Given the description of an element on the screen output the (x, y) to click on. 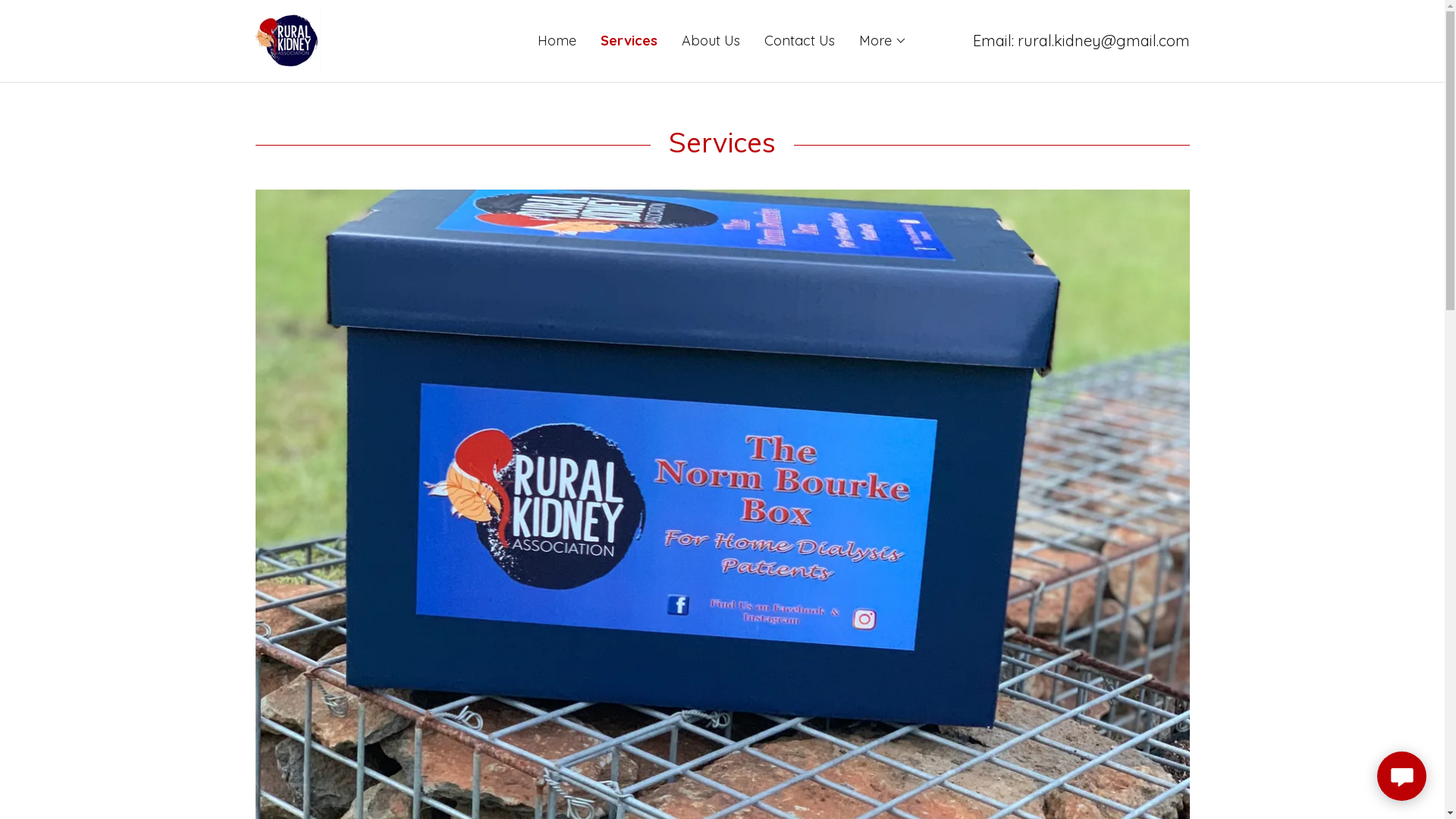
Rural Kidney Association Element type: hover (287, 39)
Home Element type: text (556, 40)
Contact Us Element type: text (799, 40)
rural.kidney@gmail.com Element type: text (1103, 40)
About Us Element type: text (710, 40)
Services Element type: text (628, 40)
More Element type: text (882, 40)
